Given the description of an element on the screen output the (x, y) to click on. 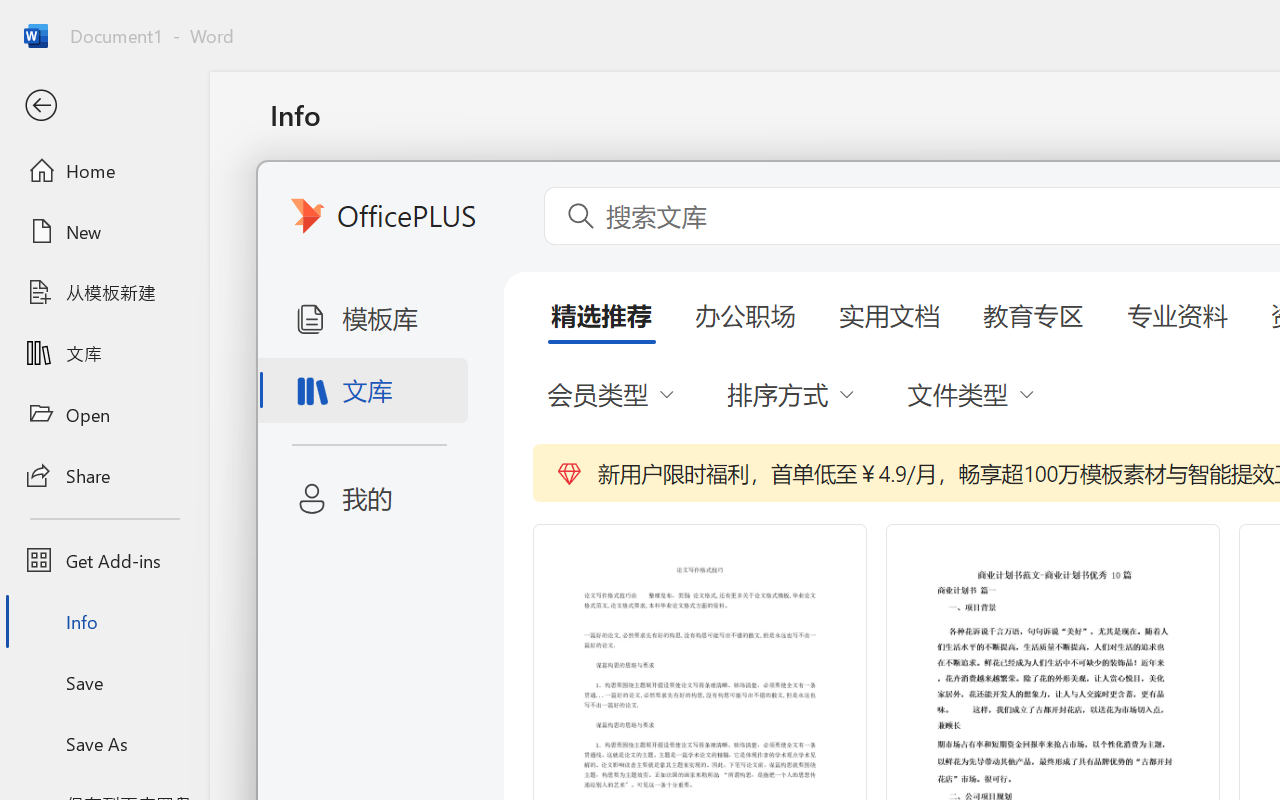
Back (104, 106)
